Given the description of an element on the screen output the (x, y) to click on. 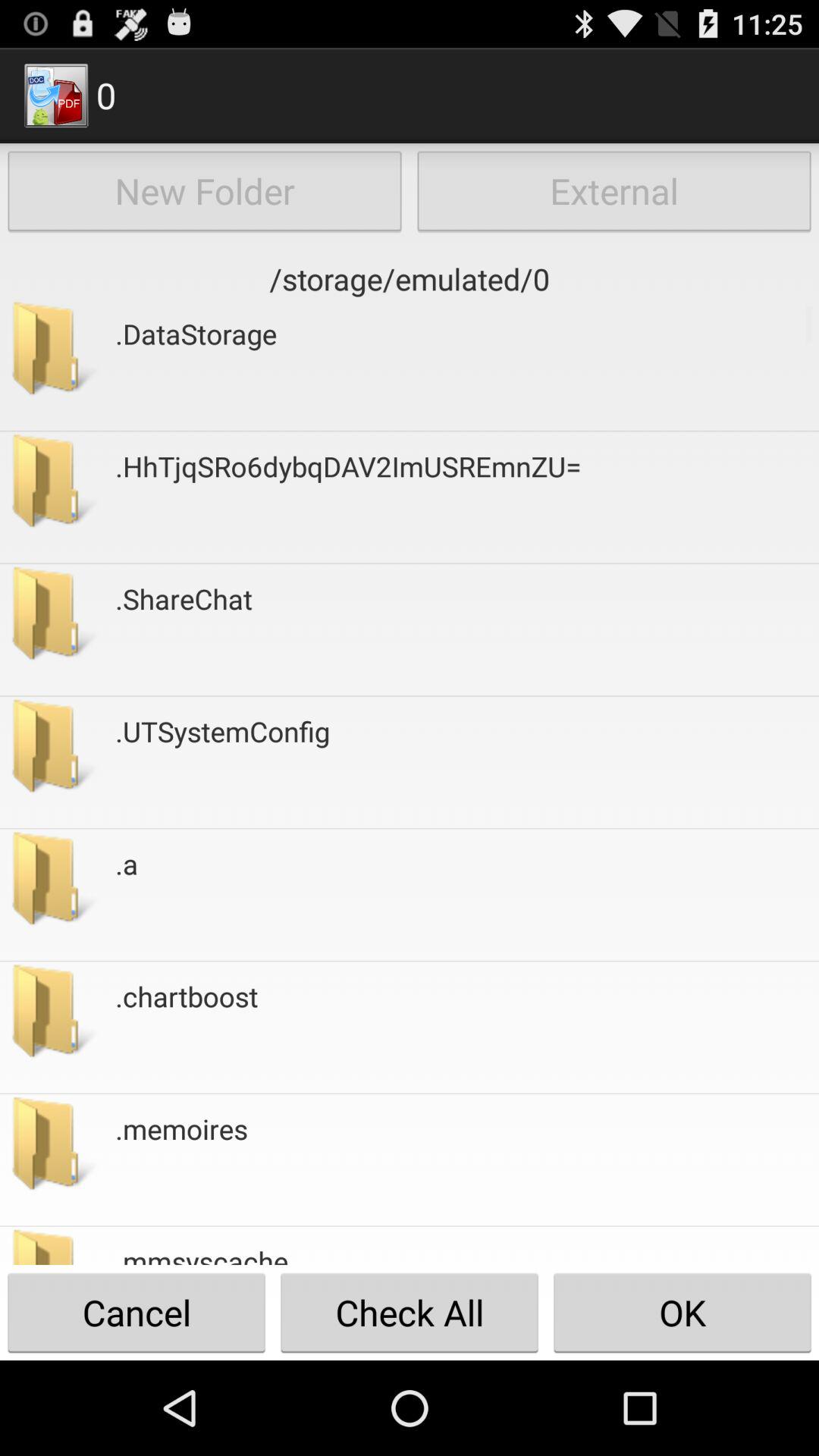
turn off the .hhtjqsro6dybqdav2imusremnzu= item (348, 497)
